Given the description of an element on the screen output the (x, y) to click on. 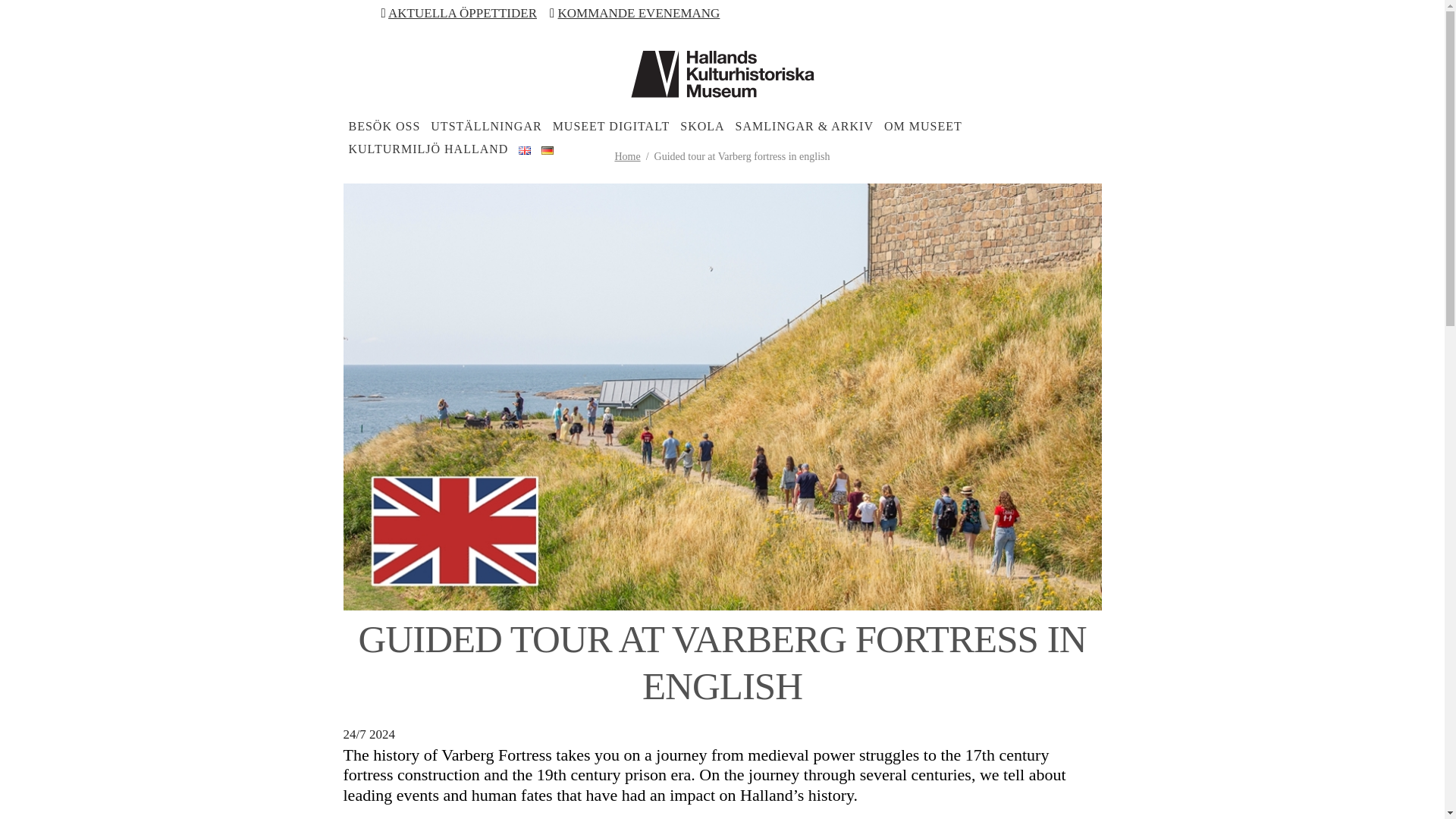
OM MUSEET (922, 126)
SKOLA (701, 126)
KOMMANDE EVENEMANG (638, 12)
MUSEET DIGITALT (611, 126)
